Given the description of an element on the screen output the (x, y) to click on. 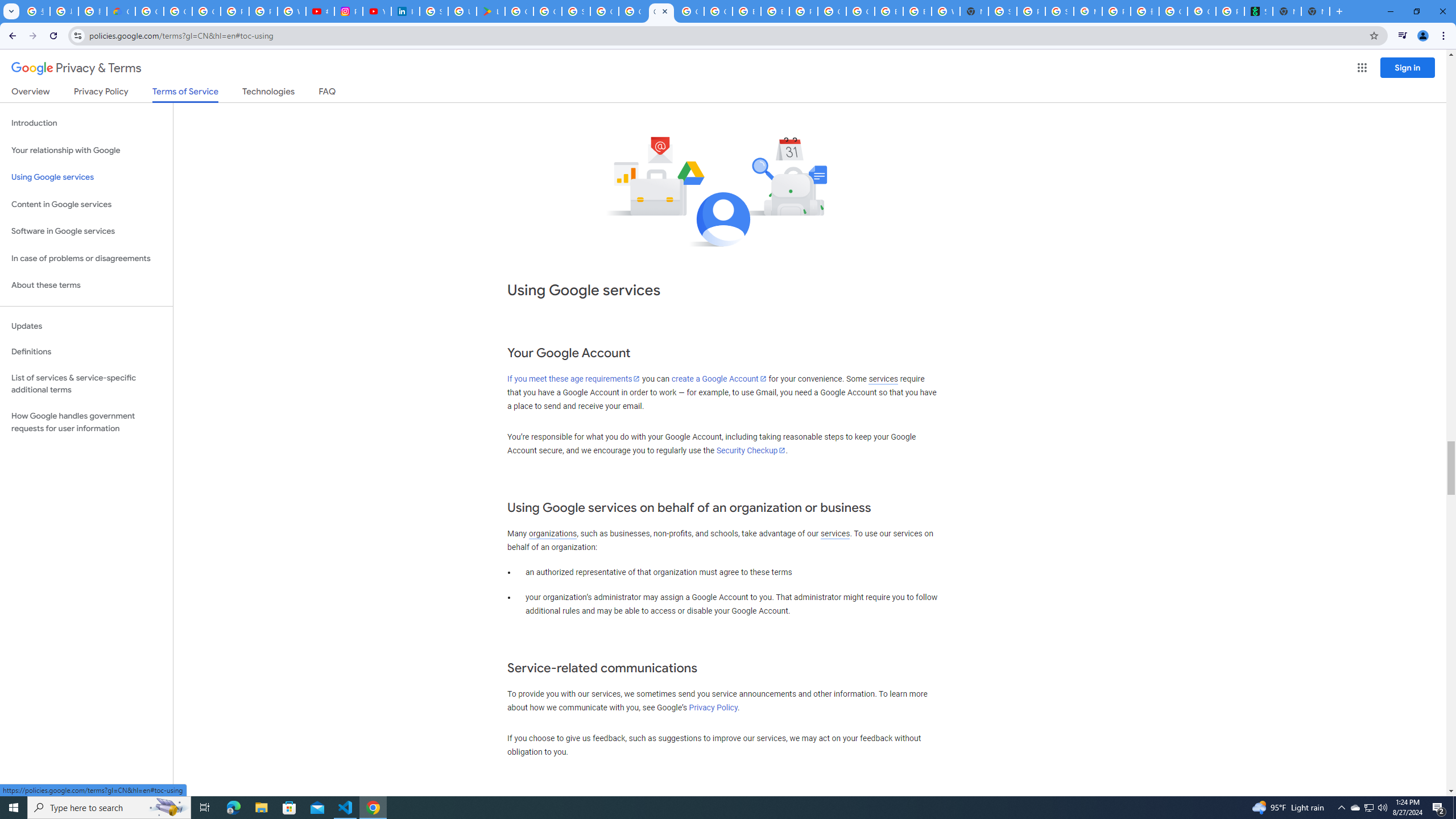
Security Checkup (751, 450)
List of services & service-specific additional terms (86, 383)
#nbabasketballhighlights - YouTube (320, 11)
organizations (552, 533)
In case of problems or disagreements (86, 258)
New Tab (1315, 11)
